Given the description of an element on the screen output the (x, y) to click on. 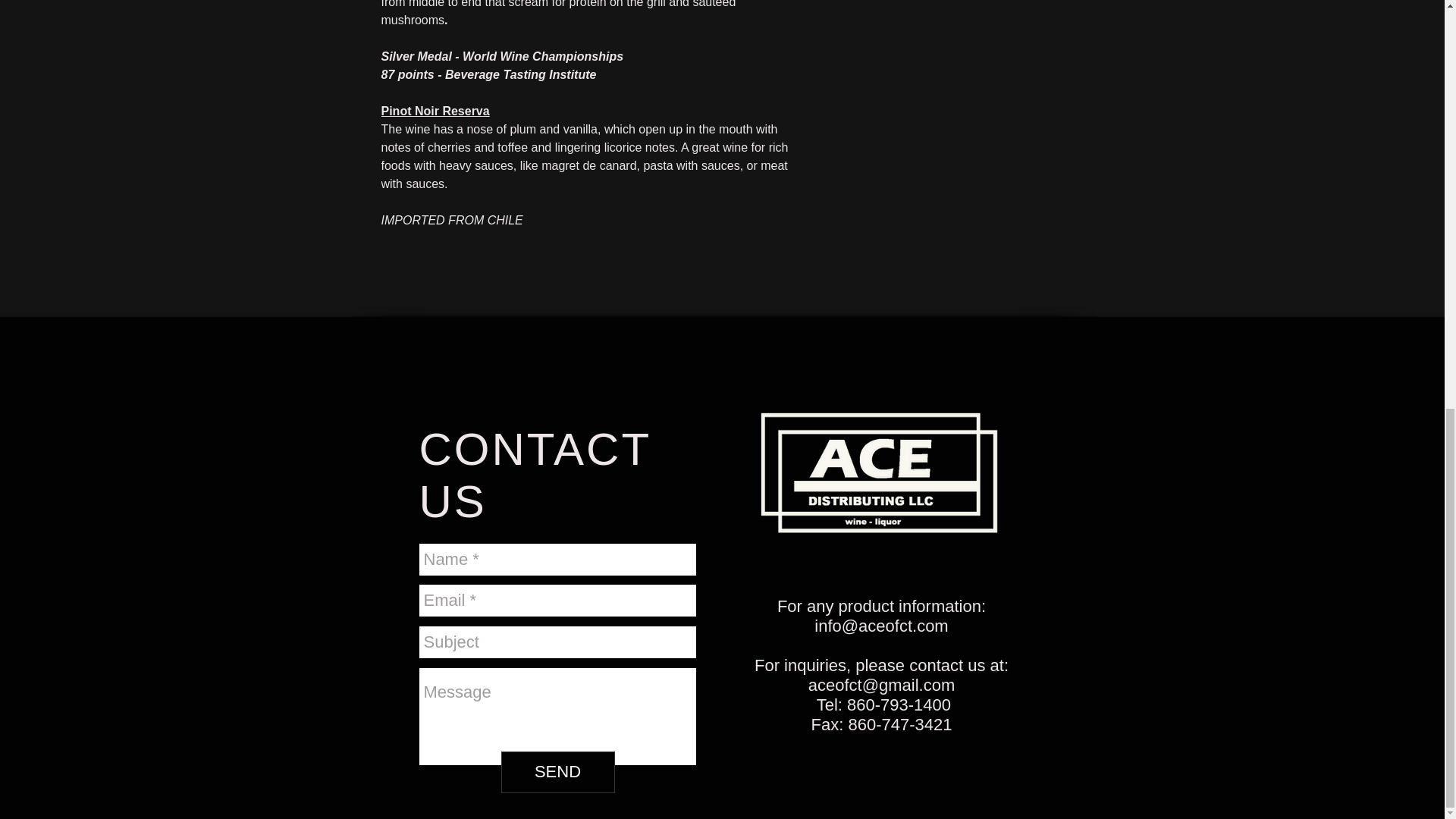
SEND (557, 772)
